Given the description of an element on the screen output the (x, y) to click on. 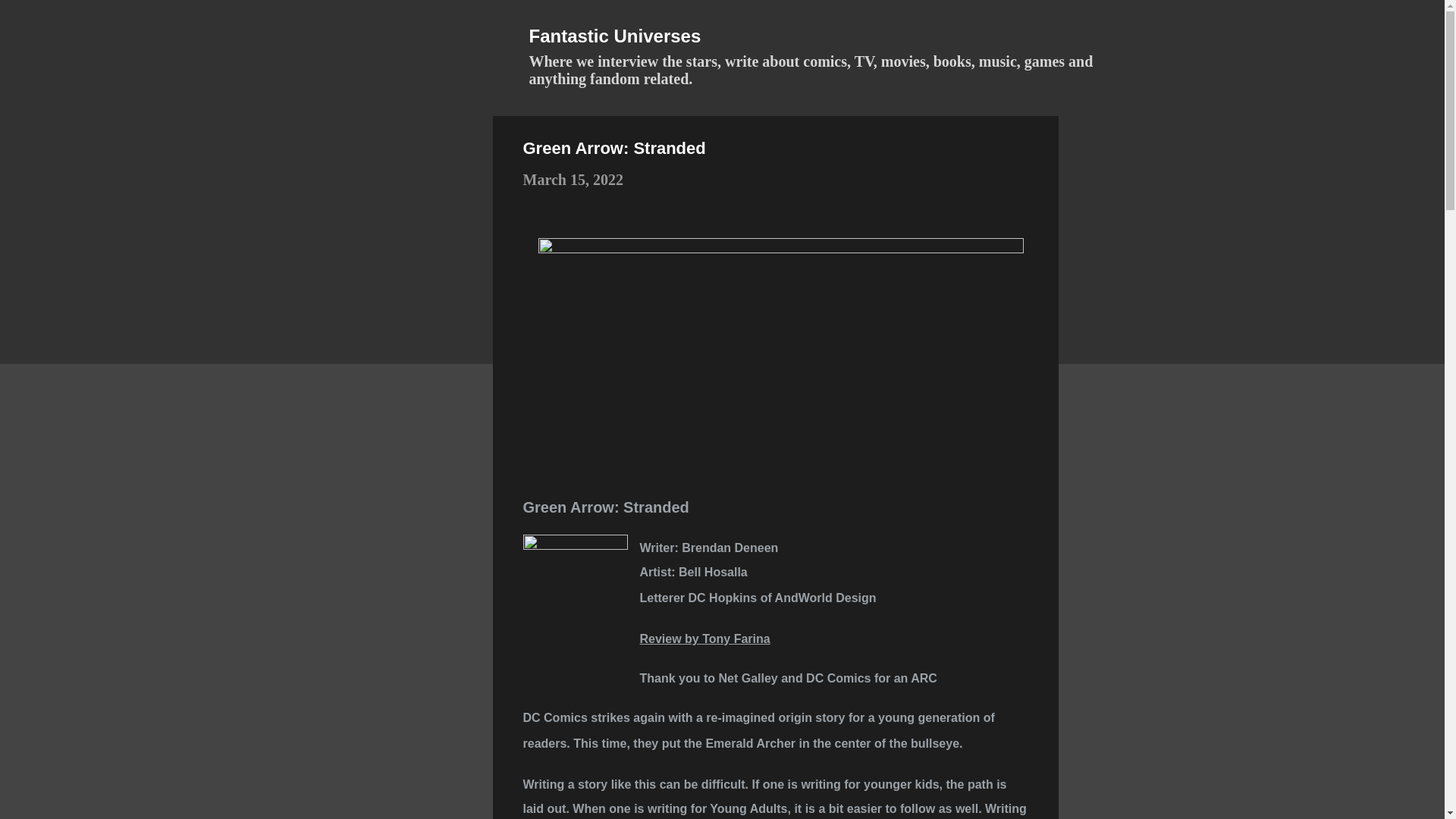
Fantastic Universes (615, 35)
Search (37, 18)
permanent link (572, 179)
March 15, 2022 (572, 179)
